Given the description of an element on the screen output the (x, y) to click on. 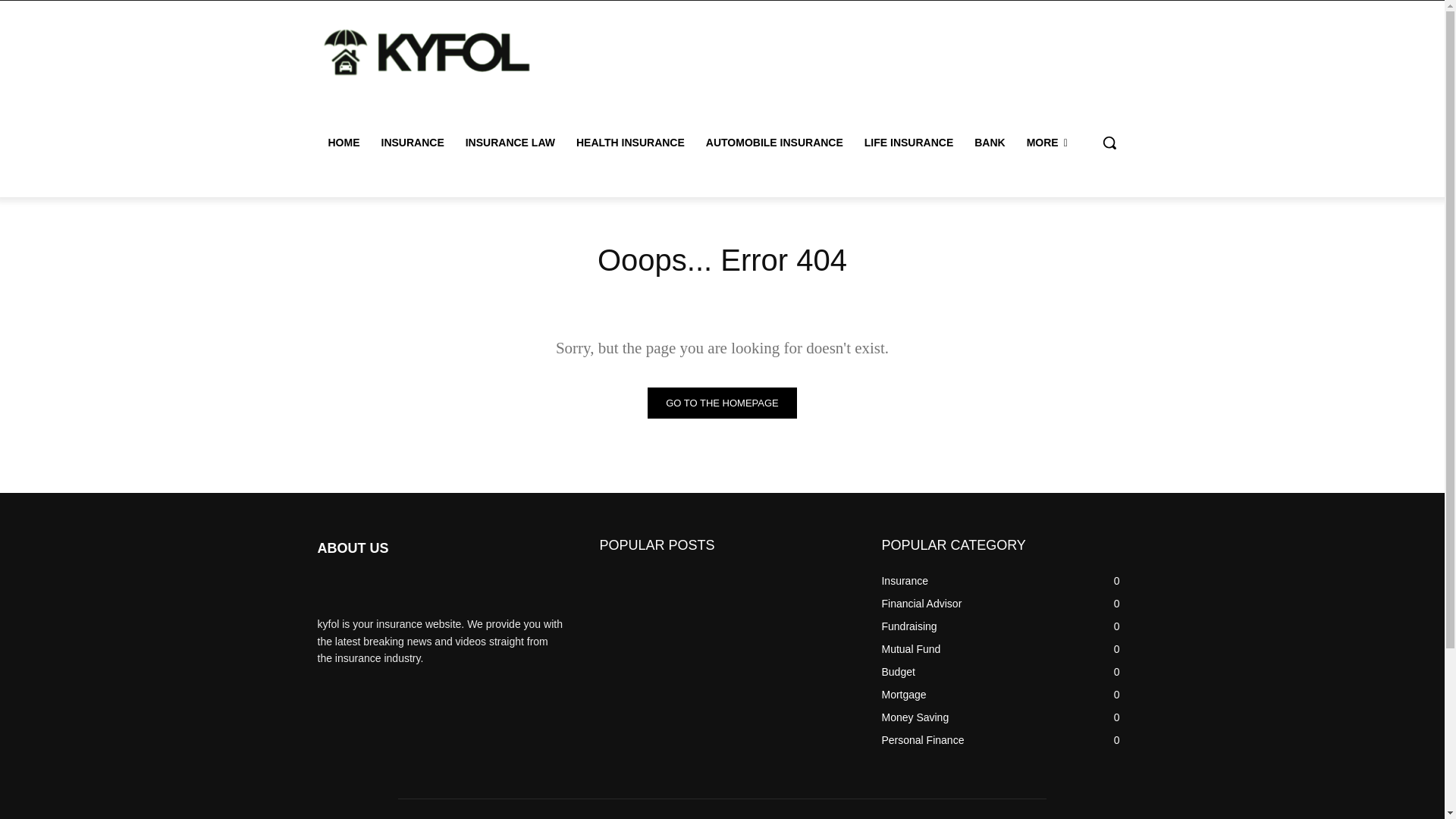
BANK (988, 142)
INSURANCE LAW (510, 142)
Go to the homepage (721, 402)
HOME (343, 142)
AUTOMOBILE INSURANCE (774, 142)
INSURANCE (411, 142)
MORE (1047, 142)
LIFE INSURANCE (908, 142)
HEALTH INSURANCE (630, 142)
